Given the description of an element on the screen output the (x, y) to click on. 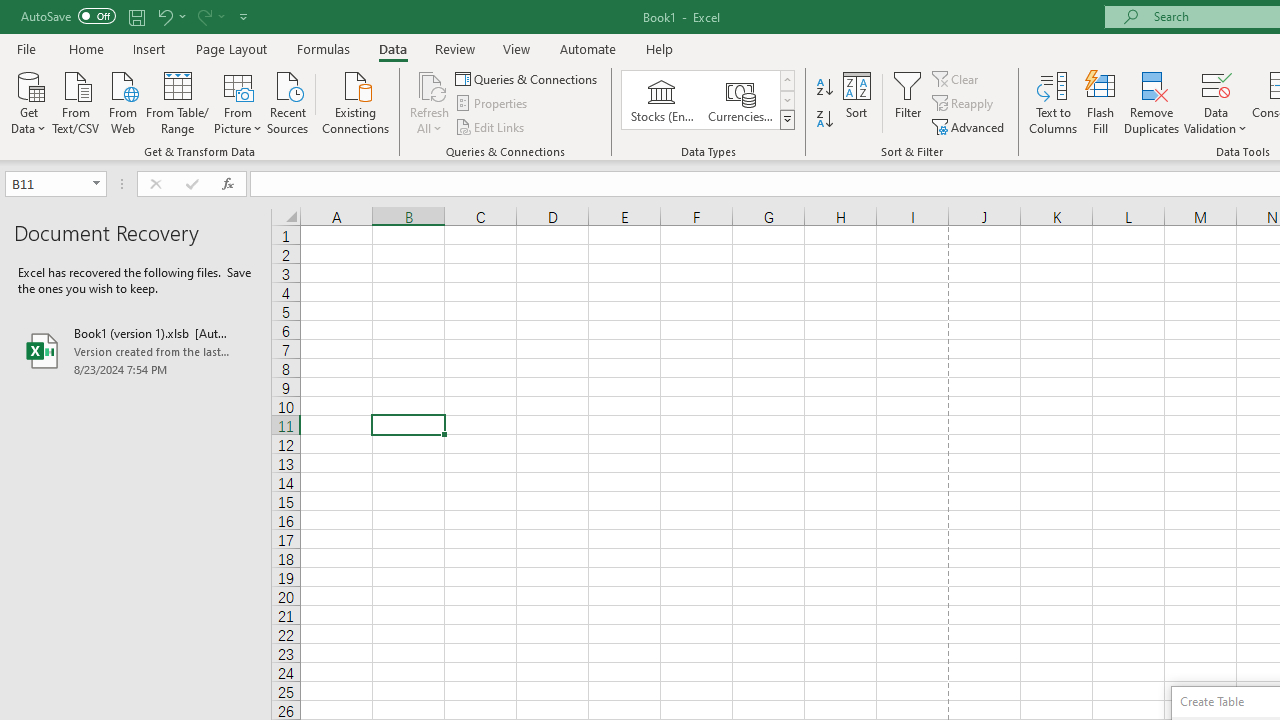
Sort Z to A (824, 119)
Filter (908, 102)
Remove Duplicates (1151, 102)
Row up (786, 79)
Queries & Connections (527, 78)
From Table/Range (177, 101)
